Given the description of an element on the screen output the (x, y) to click on. 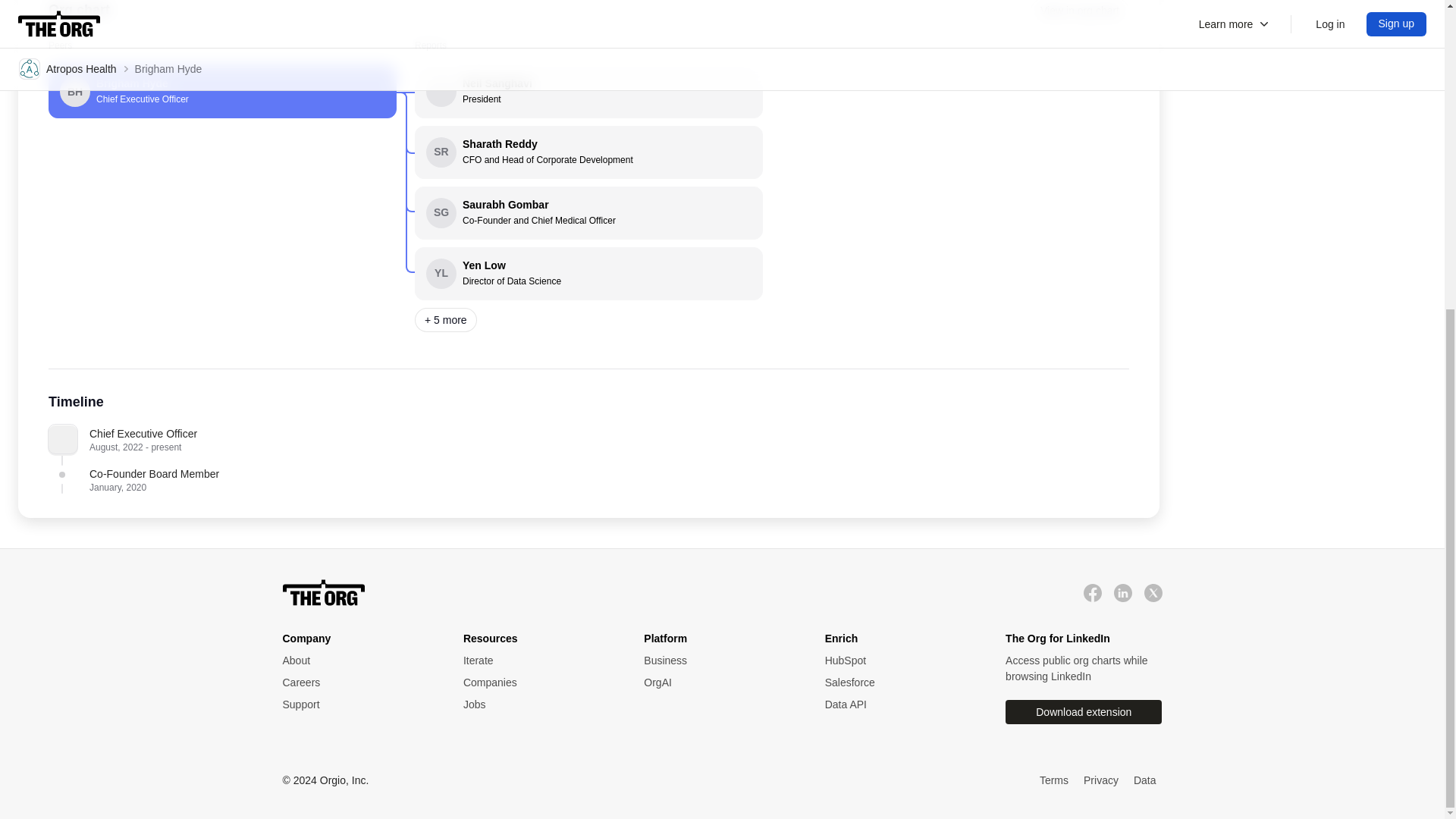
Jobs (537, 704)
Jobs (537, 704)
Iterate (537, 660)
Careers (357, 682)
Support (357, 704)
Support (588, 212)
About (222, 91)
Facebook (357, 704)
LinkedIn (357, 660)
Companies (1091, 592)
The Org logo (1122, 592)
